Given the description of an element on the screen output the (x, y) to click on. 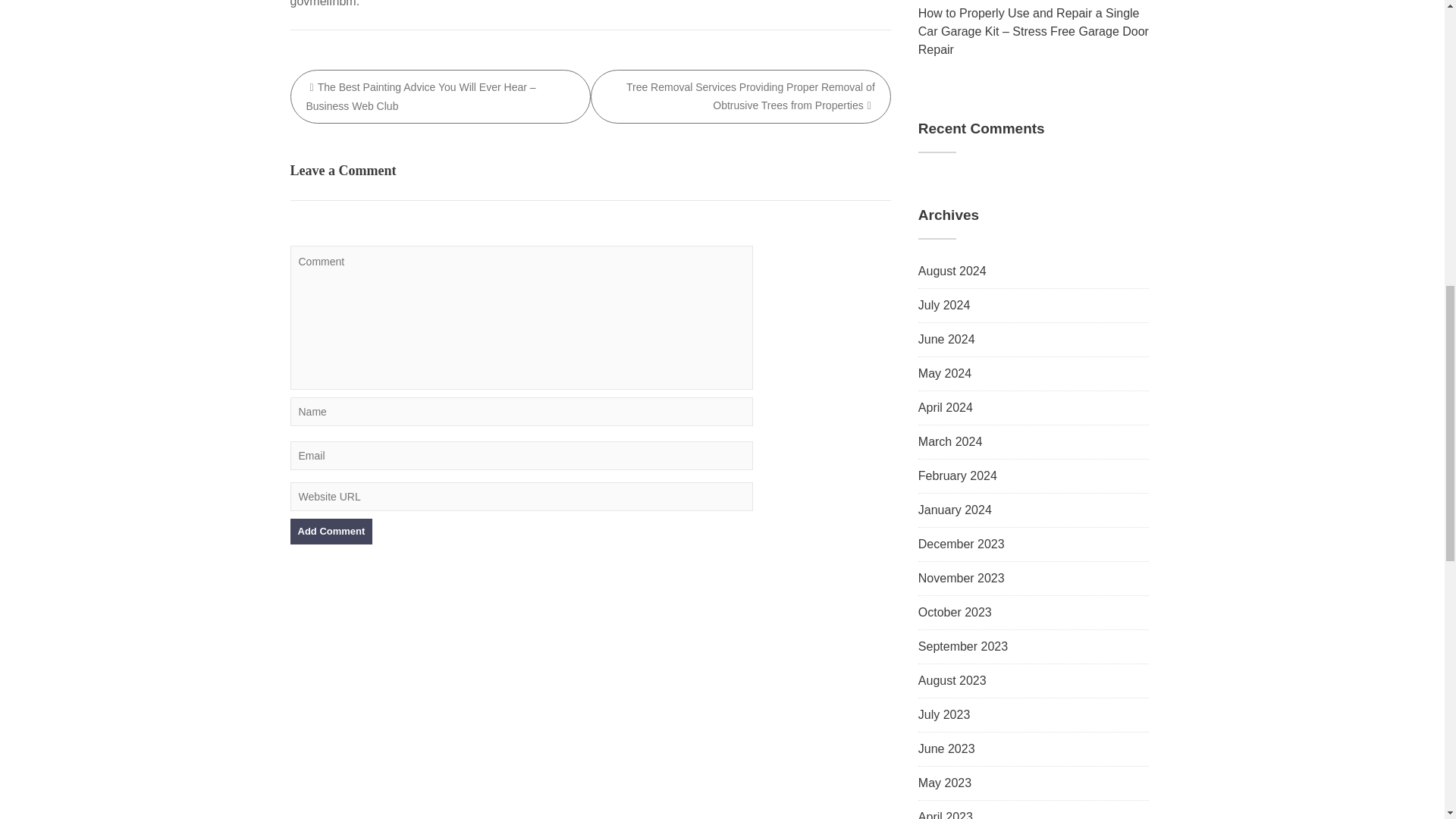
May 2023 (944, 782)
September 2023 (962, 645)
January 2024 (954, 509)
May 2024 (944, 373)
June 2023 (946, 748)
Add Comment (330, 531)
March 2024 (950, 440)
July 2024 (944, 305)
April 2023 (945, 814)
